Given the description of an element on the screen output the (x, y) to click on. 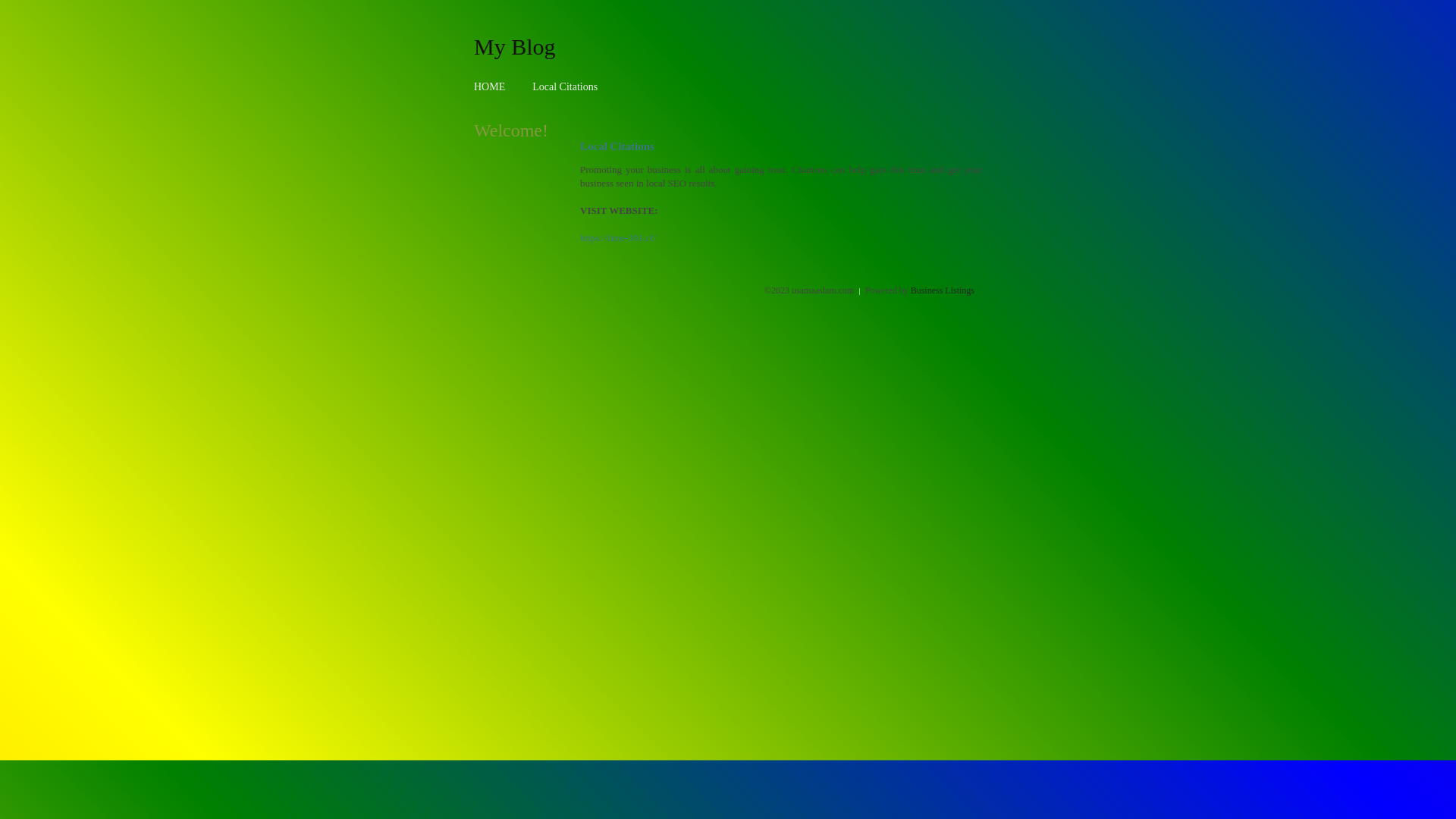
Local Citations Element type: text (564, 86)
My Blog Element type: text (514, 46)
Business Listings Element type: text (942, 290)
HOME Element type: text (489, 86)
https://time-391.cf/ Element type: text (617, 237)
